Given the description of an element on the screen output the (x, y) to click on. 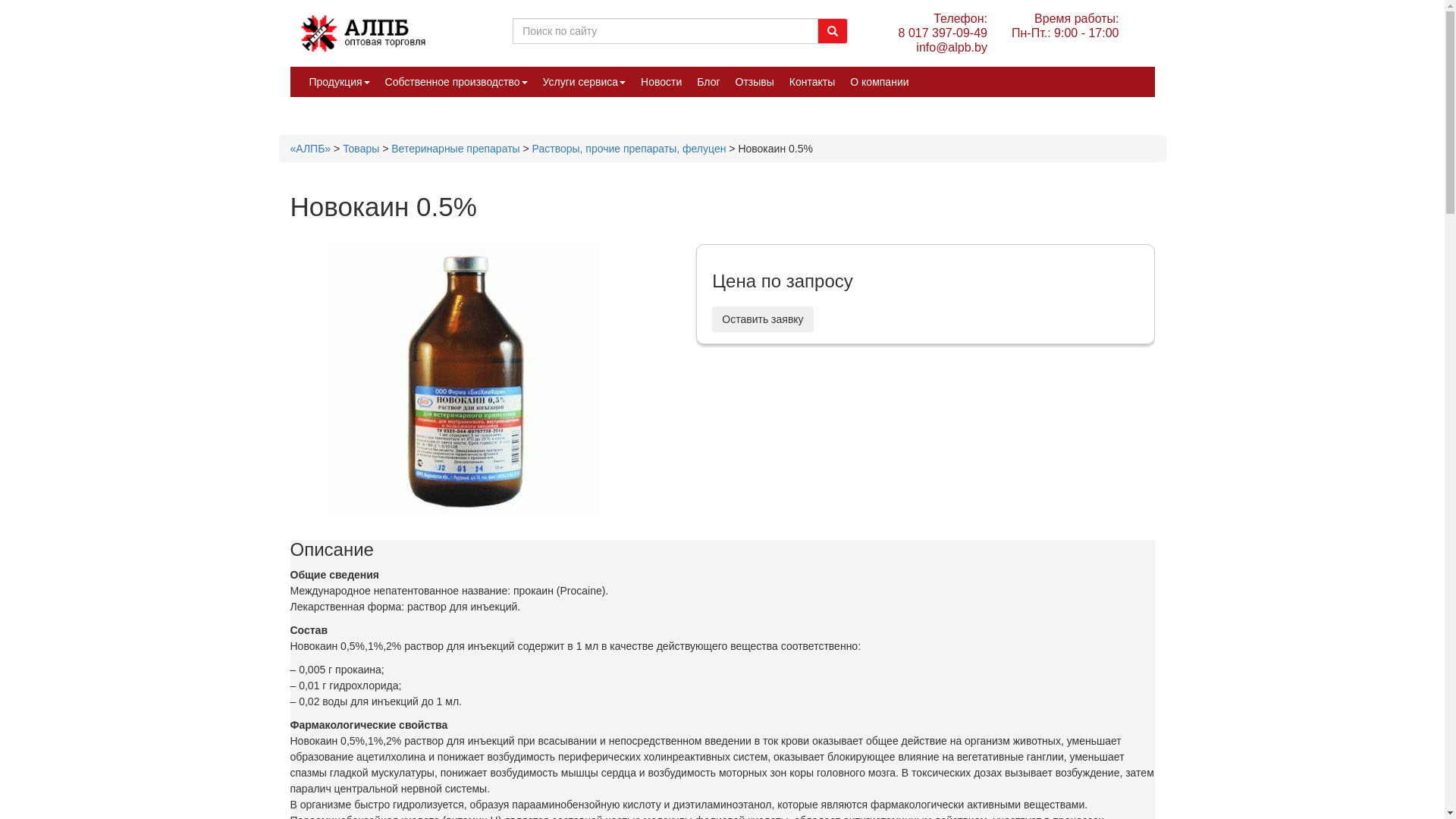
8 017 397-09-49 Element type: text (942, 32)
info@alpb.by Element type: text (942, 47)
